Given the description of an element on the screen output the (x, y) to click on. 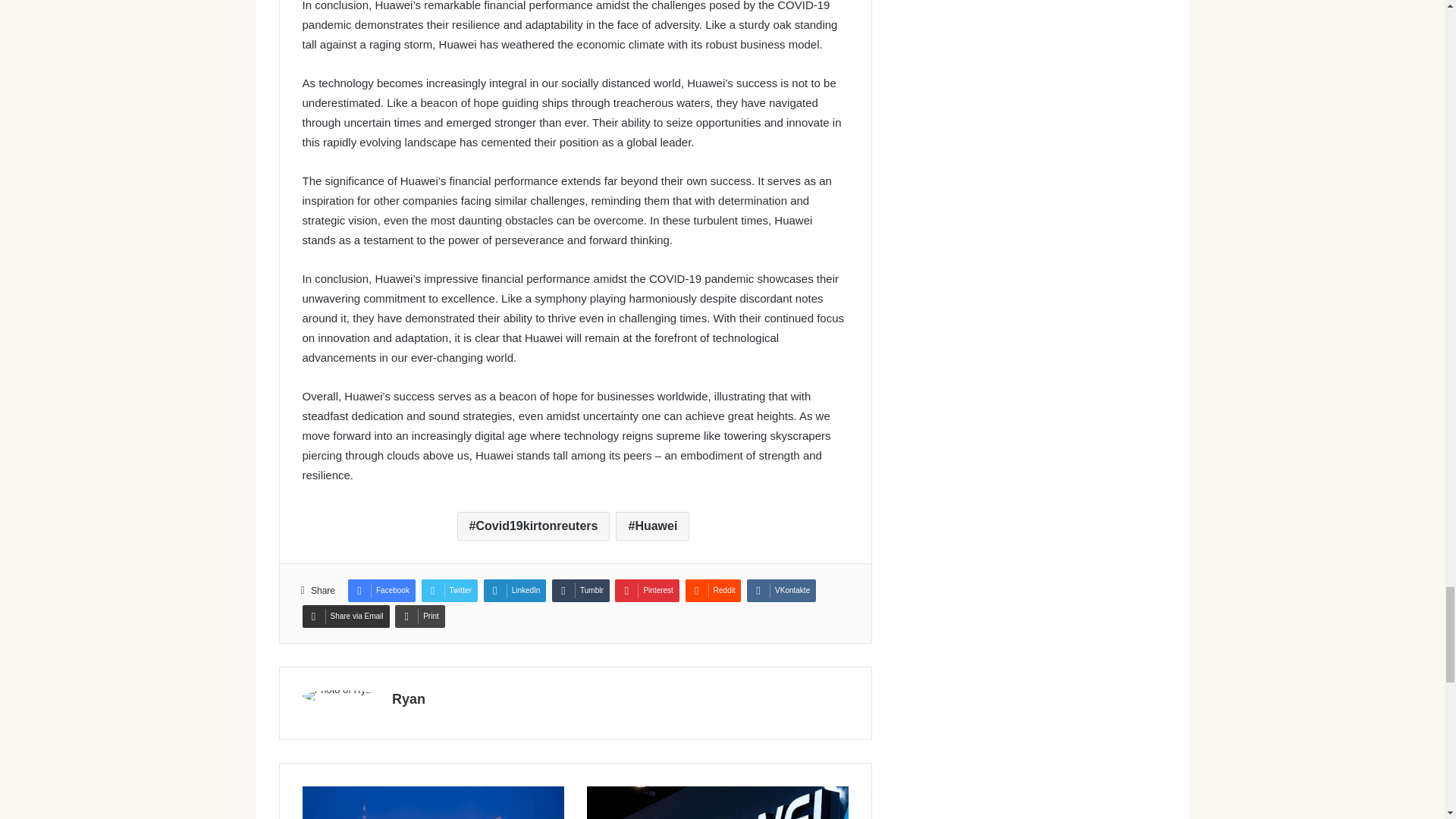
LinkedIn (515, 590)
Covid19kirtonreuters (533, 525)
Twitter (449, 590)
LinkedIn (515, 590)
Share via Email (344, 616)
VKontakte (780, 590)
Pinterest (646, 590)
Tumblr (580, 590)
Facebook (380, 590)
Facebook (380, 590)
